Given the description of an element on the screen output the (x, y) to click on. 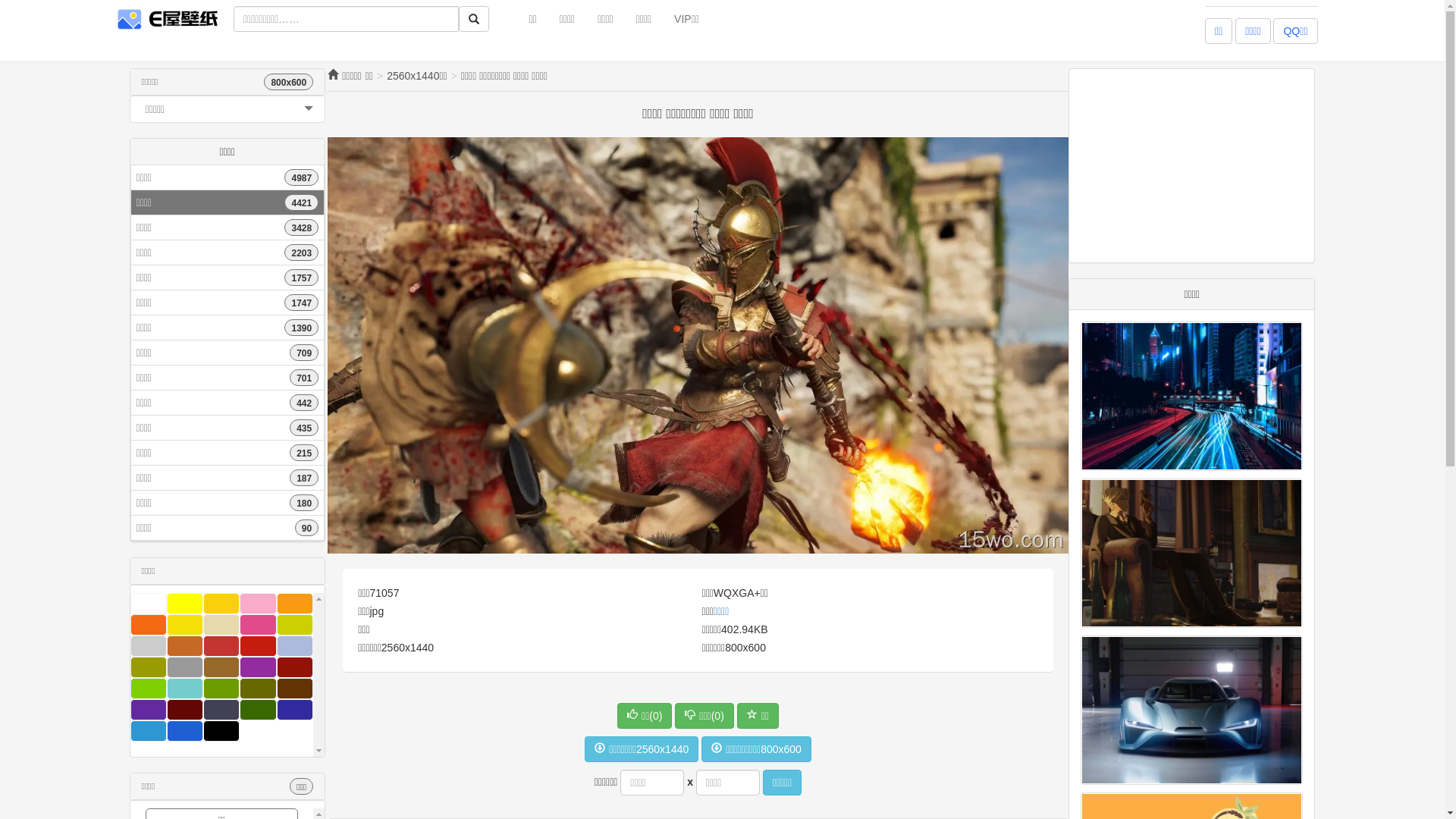
Advertisement Element type: hover (1182, 163)
